Given the description of an element on the screen output the (x, y) to click on. 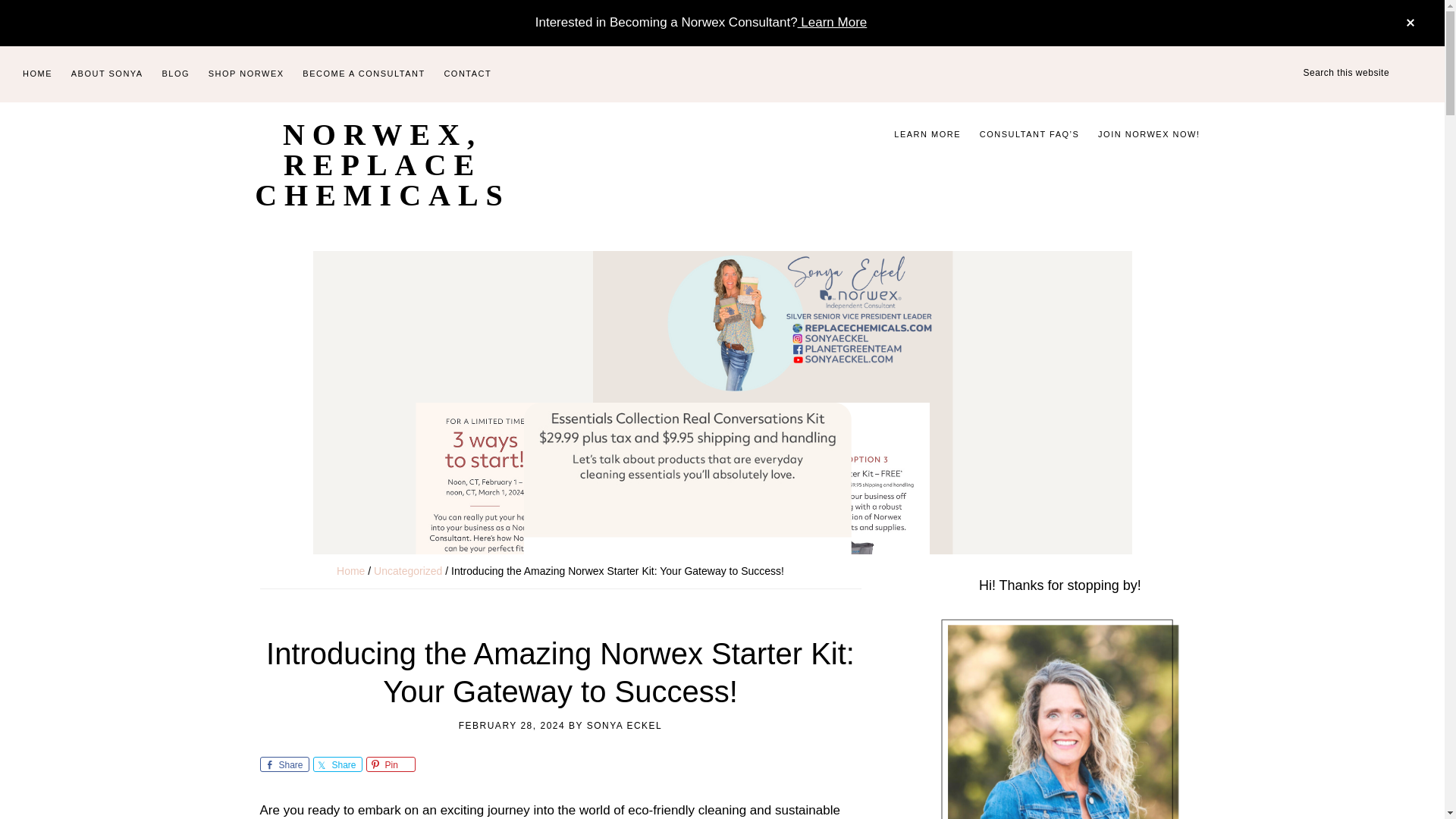
Uncategorized (408, 571)
Home (350, 571)
Hey! It's nice to meet you! (1059, 717)
SHOP NORWEX (246, 73)
ABOUT SONYA (107, 73)
BECOME A CONSULTANT (363, 73)
Share (283, 764)
NORWEX, REPLACE CHEMICALS (382, 164)
BLOG (175, 73)
JOIN NORWEX NOW! (1148, 134)
Learn More (832, 22)
